Given the description of an element on the screen output the (x, y) to click on. 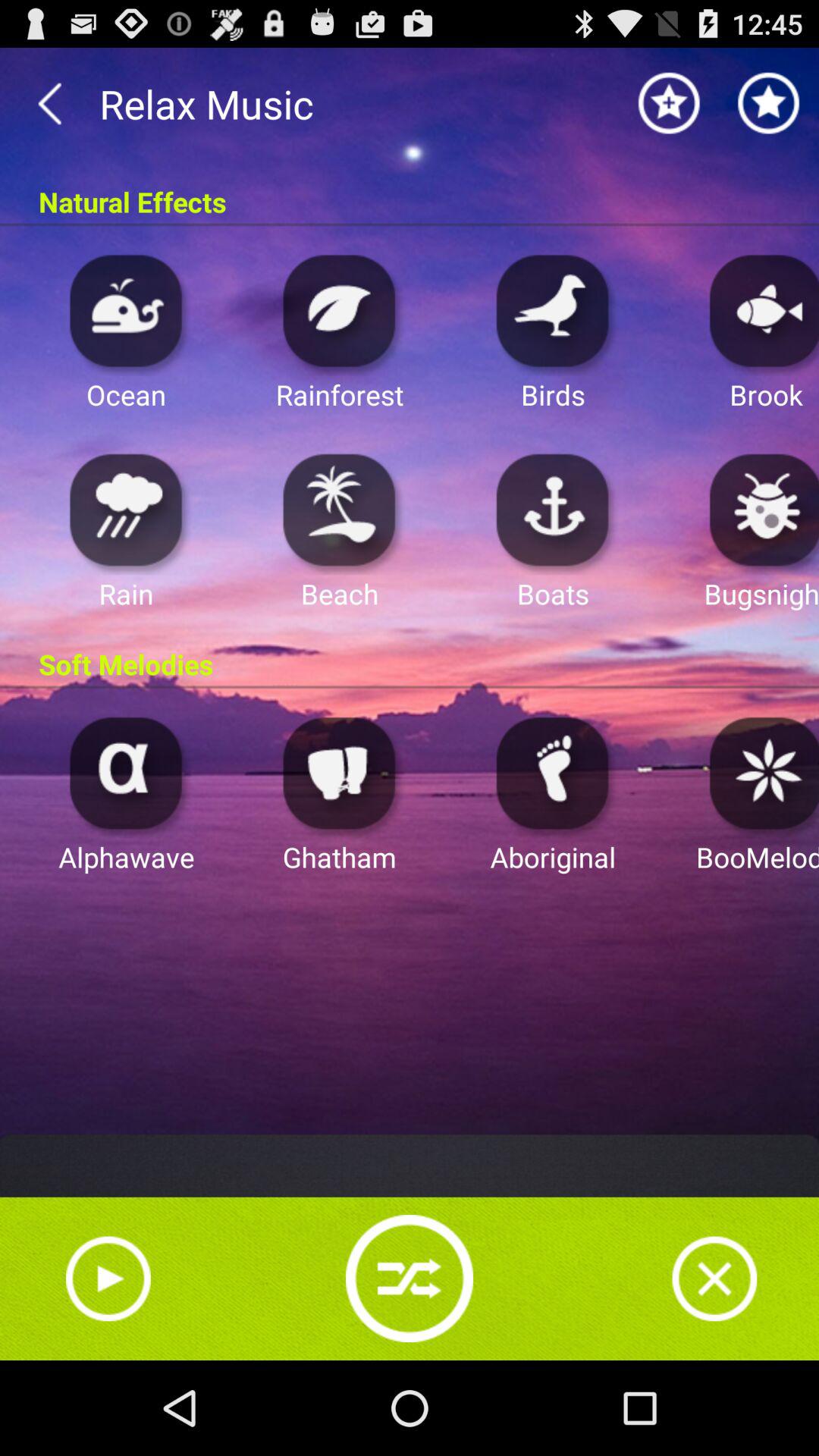
boat sounds (552, 509)
